Given the description of an element on the screen output the (x, y) to click on. 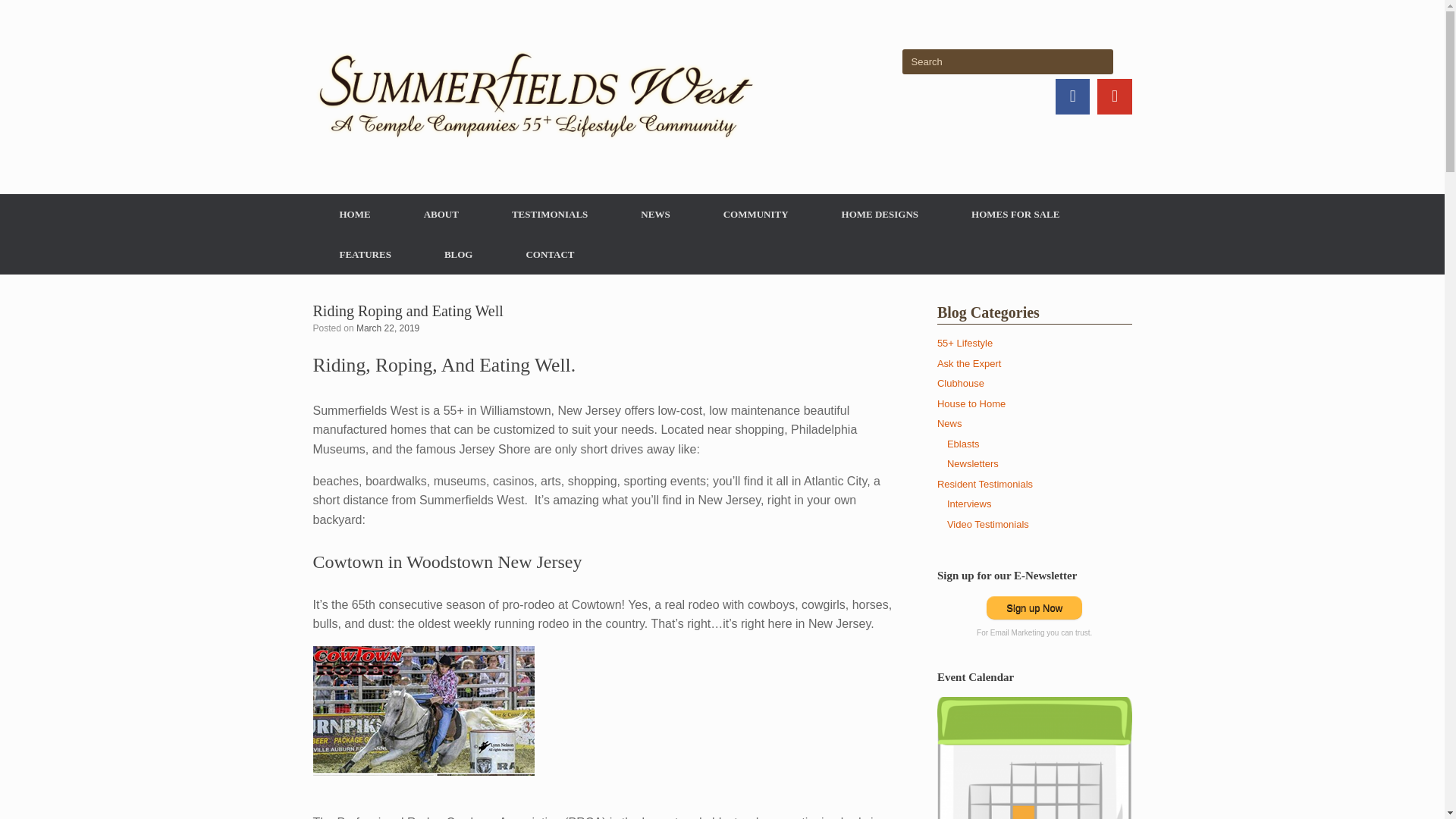
CONTACT (549, 254)
NEWS (654, 214)
March 22, 2019 (387, 327)
HOME DESIGNS (879, 214)
BLOG (458, 254)
TESTIMONIALS (549, 214)
HOME (354, 214)
FEATURES (364, 254)
2:58 pm (387, 327)
ABOUT (440, 214)
